Given the description of an element on the screen output the (x, y) to click on. 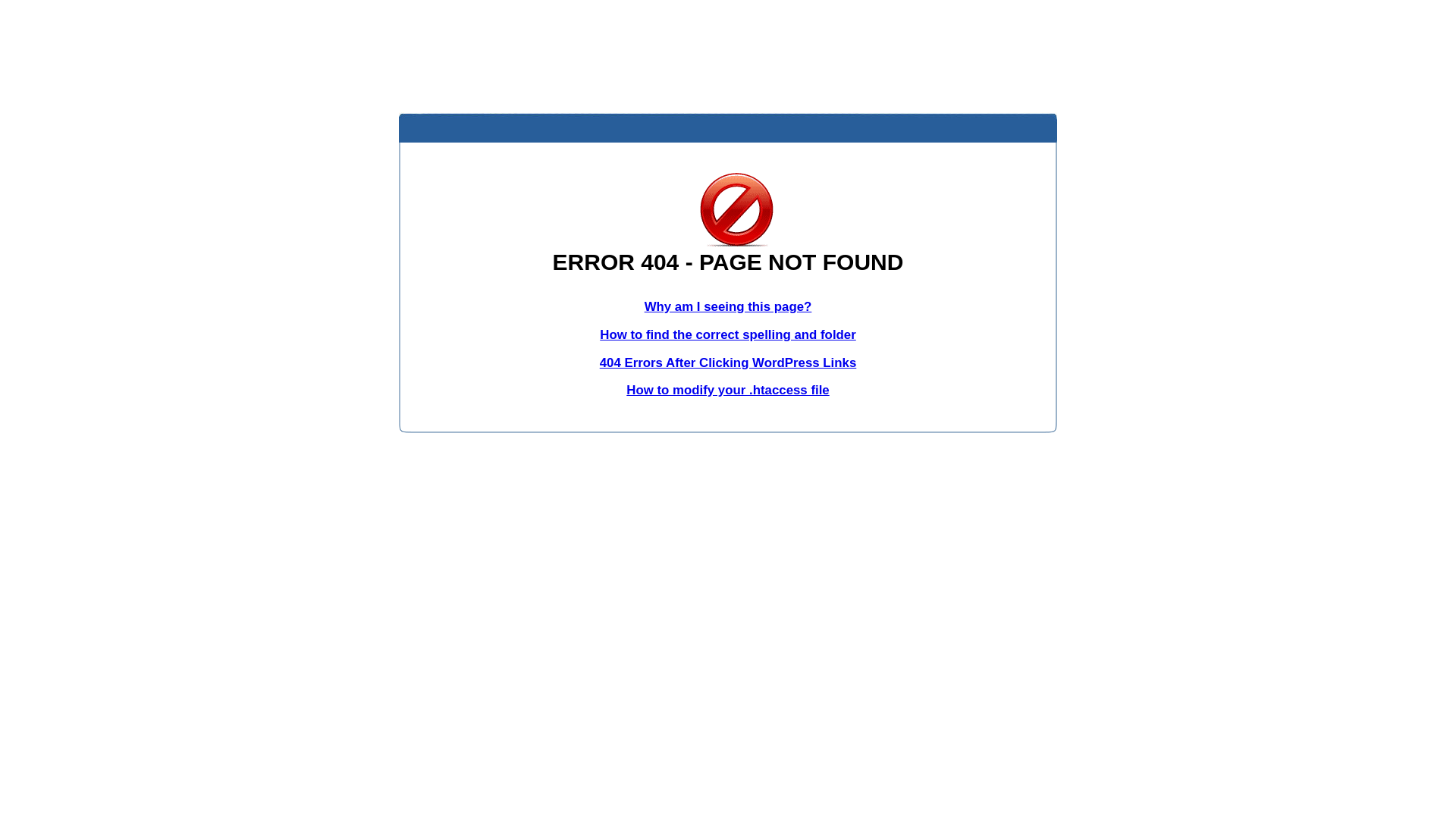
404 Errors After Clicking WordPress Links Element type: text (727, 362)
How to find the correct spelling and folder Element type: text (727, 334)
How to modify your .htaccess file Element type: text (727, 389)
Why am I seeing this page? Element type: text (728, 306)
